Given the description of an element on the screen output the (x, y) to click on. 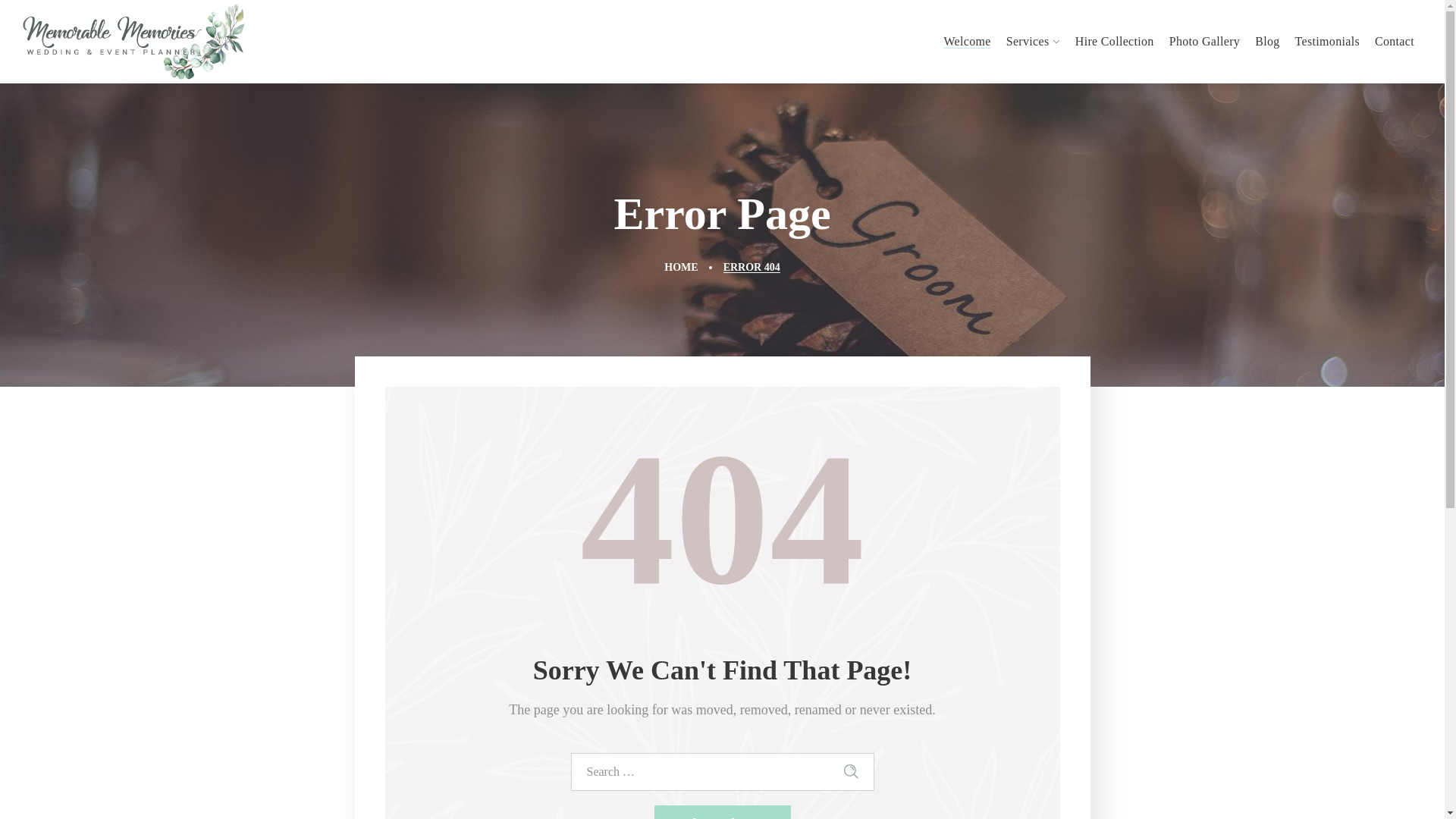
Hire Collection Element type: text (1114, 41)
Testimonials Element type: text (1327, 41)
Search Element type: text (854, 771)
Blog Element type: text (1266, 41)
Contact Element type: text (1394, 41)
HOME Element type: text (680, 266)
Photo Gallery Element type: text (1204, 41)
Welcome Element type: text (966, 41)
Services Element type: text (1032, 41)
